Given the description of an element on the screen output the (x, y) to click on. 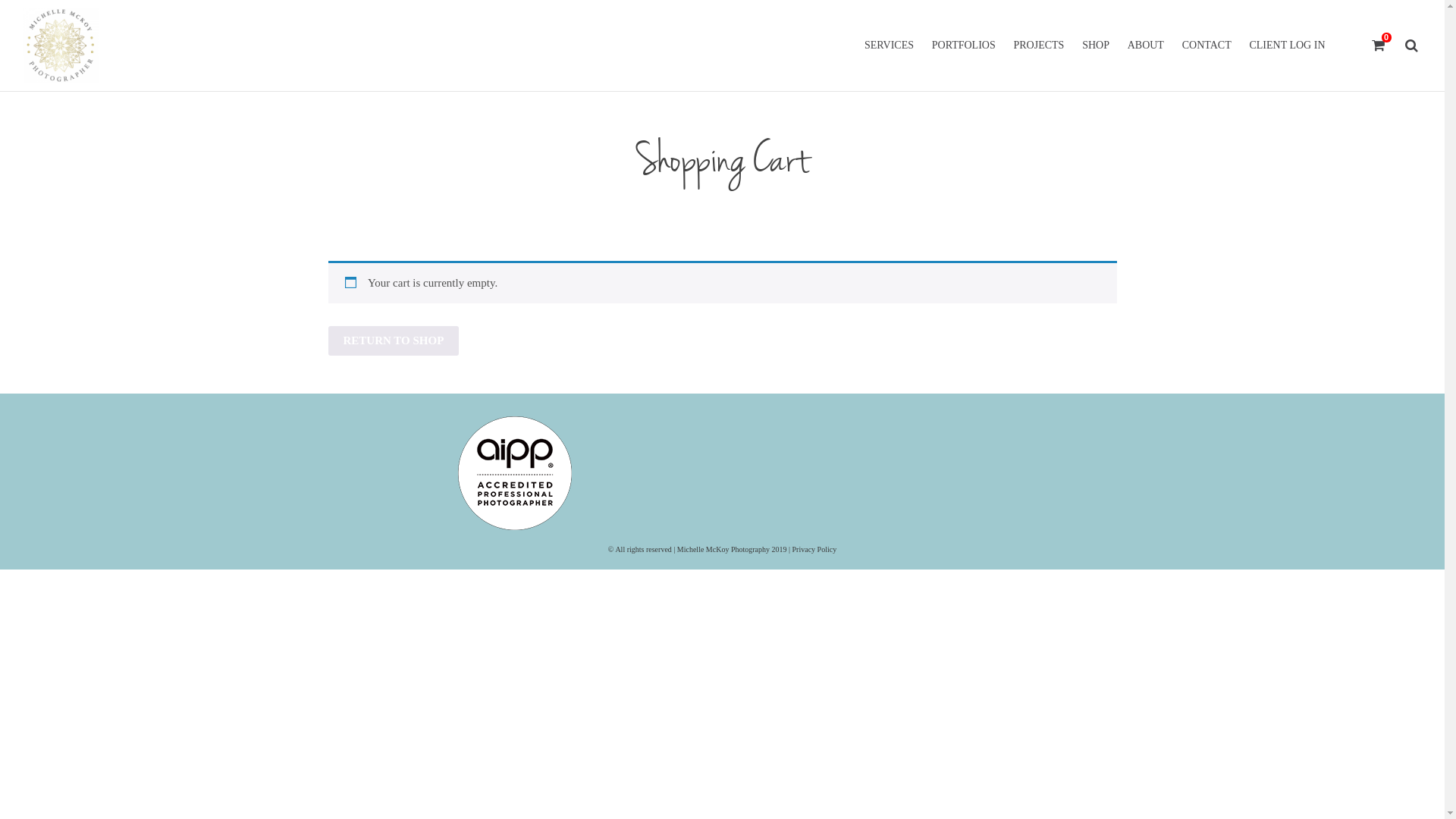
ABOUT Element type: text (1145, 45)
CLIENT LOG IN Element type: text (1286, 45)
CONTACT Element type: text (1206, 45)
PORTFOLIOS Element type: text (963, 45)
SERVICES Element type: text (888, 45)
RETURN TO SHOP Element type: text (392, 340)
0 Element type: text (1378, 45)
Privacy Policy Element type: text (814, 548)
SHOP Element type: text (1095, 45)
PROJECTS Element type: text (1038, 45)
